Given the description of an element on the screen output the (x, y) to click on. 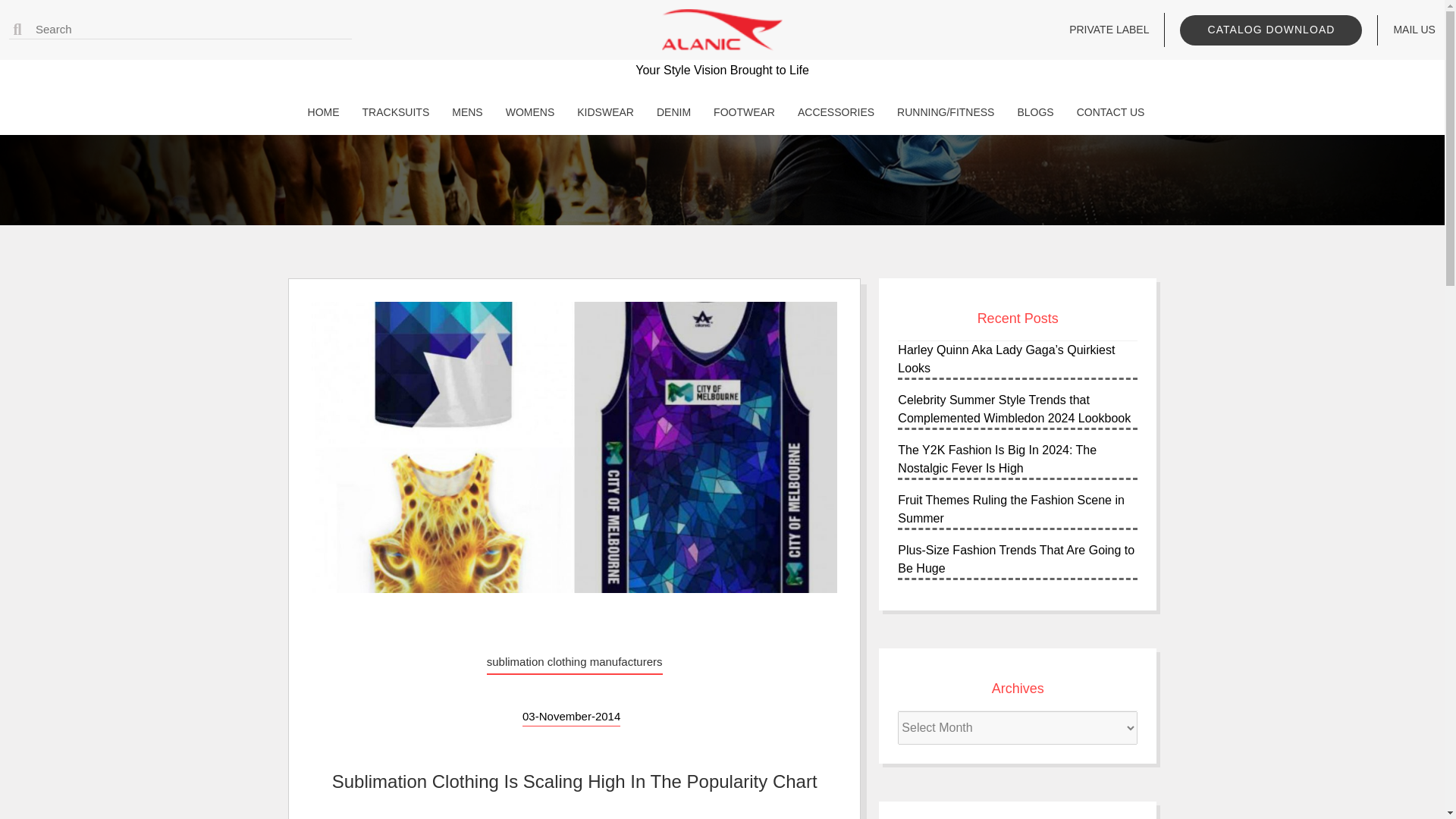
KIDSWEAR (601, 112)
MENS (462, 112)
Blogs (1030, 112)
Kidswear (601, 112)
ACCESSORIES (832, 112)
Mens (462, 112)
DENIM (669, 112)
HOME (319, 112)
sublimation clothing manufacturers (574, 662)
Denim (669, 112)
MAIL US (1414, 29)
PRIVATE LABEL (1108, 29)
Tracksuits (392, 112)
Accessories (832, 112)
TRACKSUITS (392, 112)
